Given the description of an element on the screen output the (x, y) to click on. 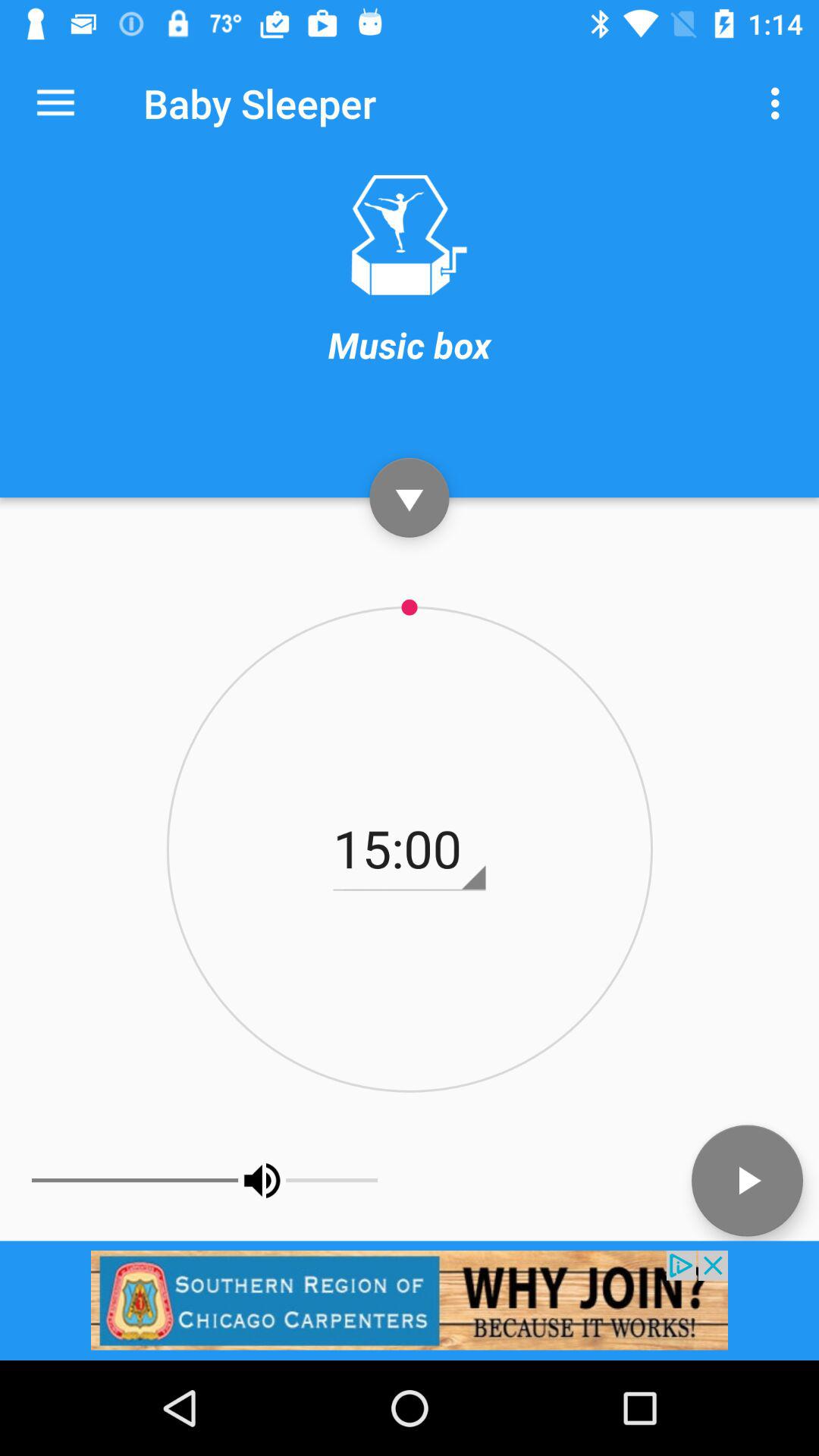
go to pause (409, 497)
